Given the description of an element on the screen output the (x, y) to click on. 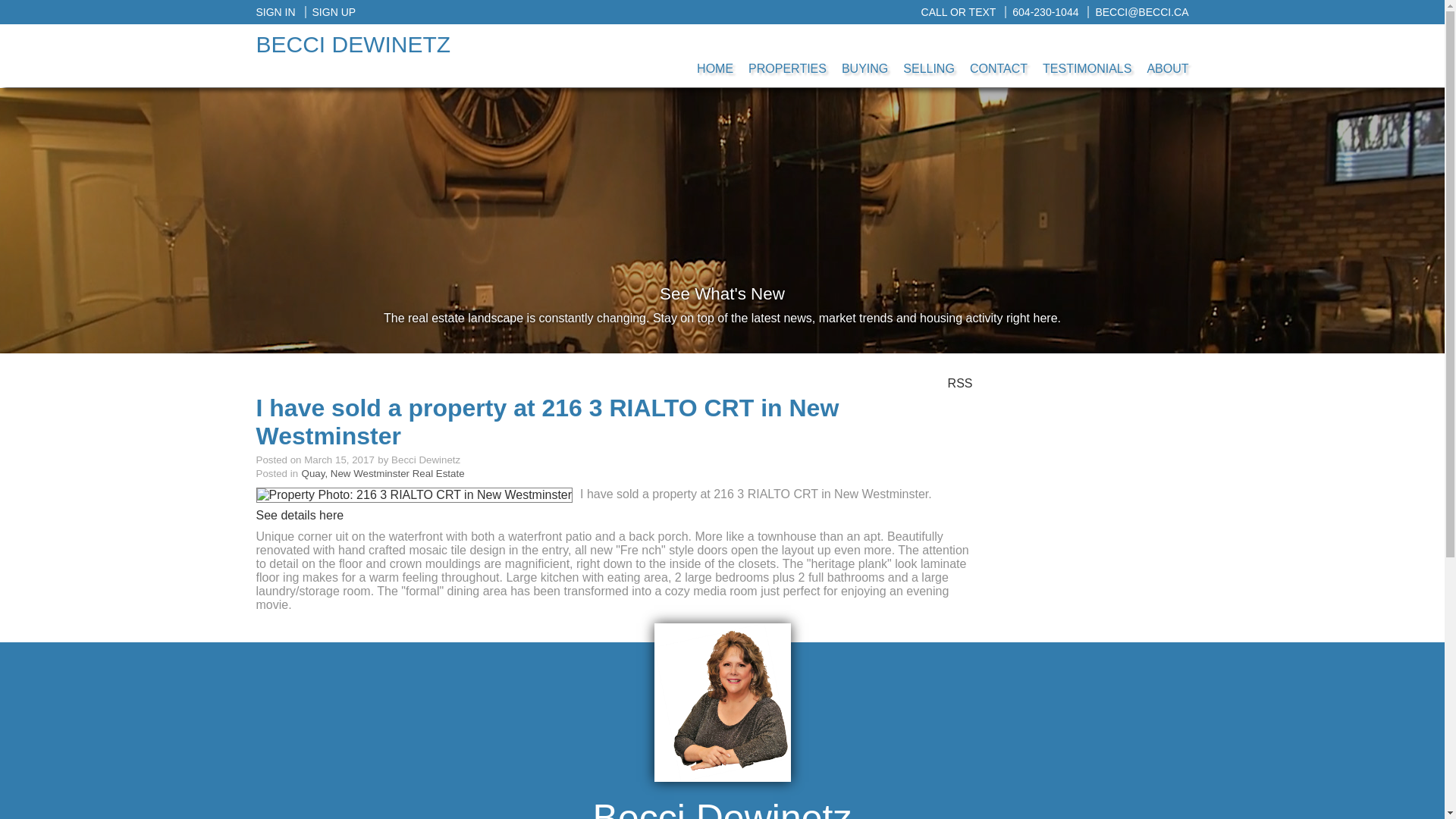
SIGN UP (330, 11)
PROPERTIES (787, 53)
Quay, New Westminster Real Estate (382, 473)
CONTACT (998, 53)
See details here (299, 514)
SIGN IN (275, 11)
BUYING (864, 53)
SELLING (928, 53)
TESTIMONIALS (1086, 53)
RSS (959, 382)
ABOUT (1166, 53)
HOME (714, 53)
604-230-1044 (1041, 11)
